Given the description of an element on the screen output the (x, y) to click on. 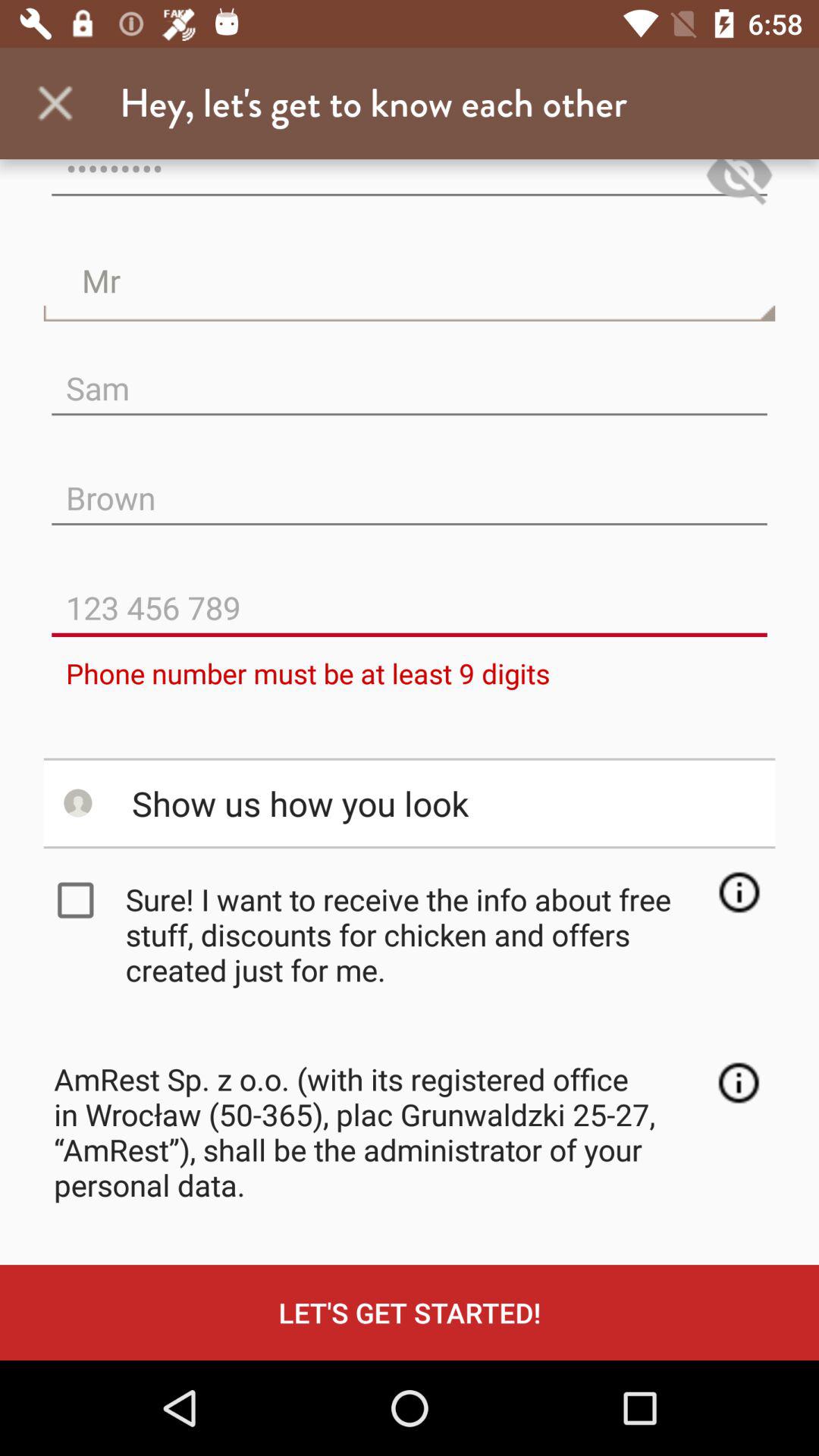
see password (739, 185)
